Given the description of an element on the screen output the (x, y) to click on. 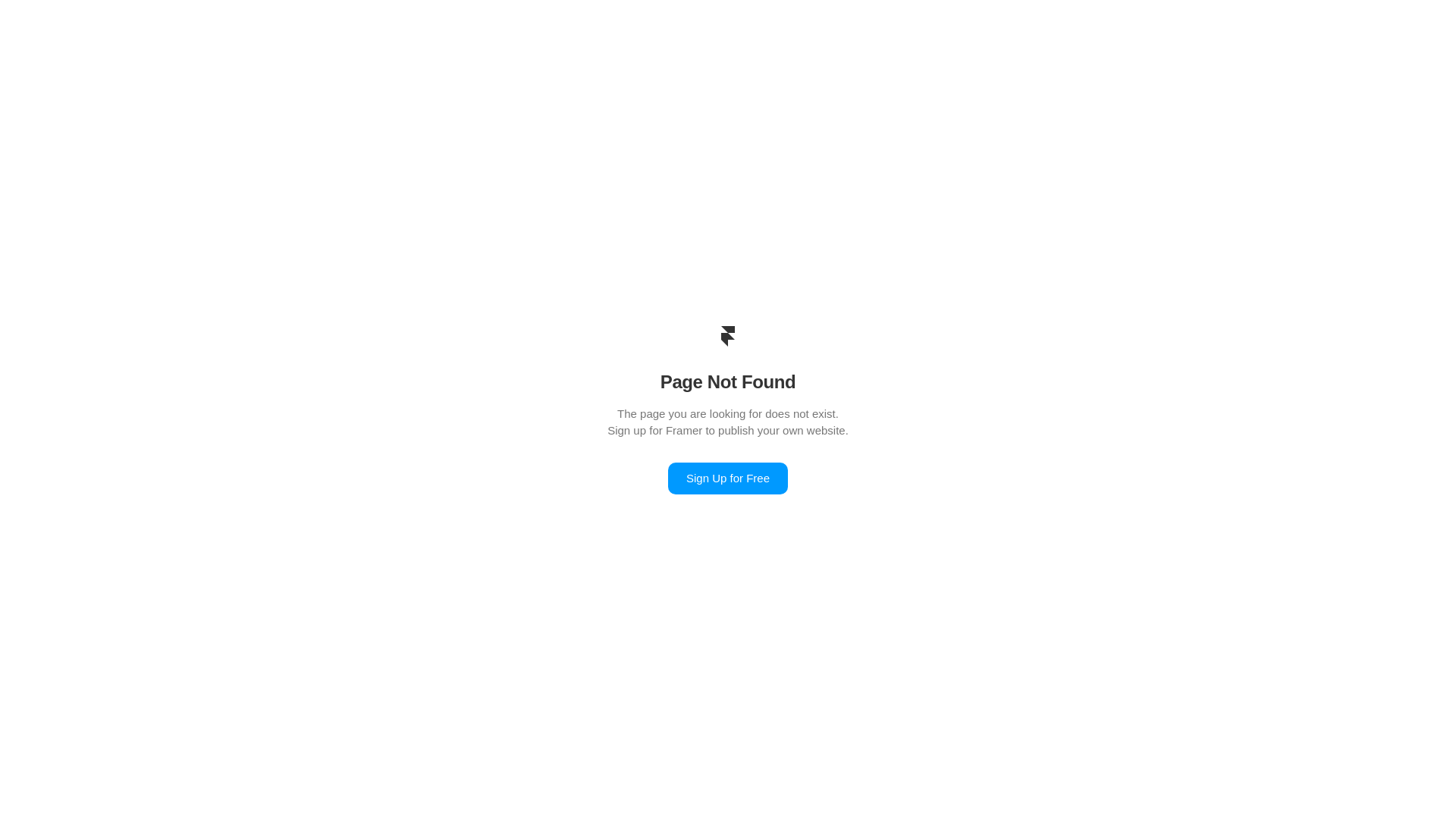
Sign Up for Free Element type: text (727, 478)
